Given the description of an element on the screen output the (x, y) to click on. 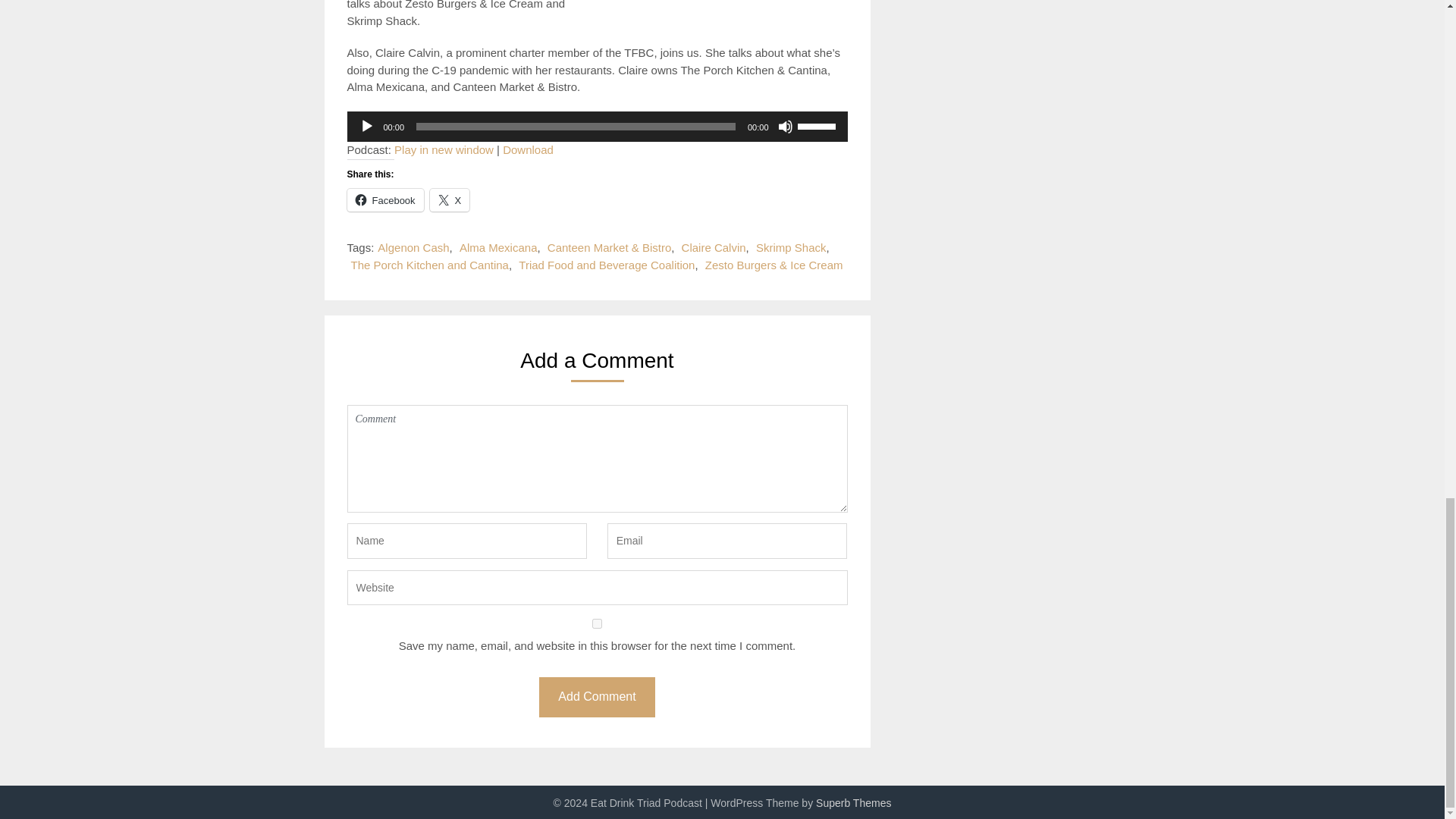
Triad Food and Beverage Coalition (606, 264)
yes (597, 623)
Play in new window (443, 149)
Add Comment (595, 697)
Click to share on Facebook (385, 200)
Alma Mexicana (498, 246)
Mute (785, 126)
Click to share on X (449, 200)
Superb Themes (853, 802)
Play (366, 126)
The Porch Kitchen and Cantina (429, 264)
Play in new window (443, 149)
Download (527, 149)
Add Comment (595, 697)
X (449, 200)
